Given the description of an element on the screen output the (x, y) to click on. 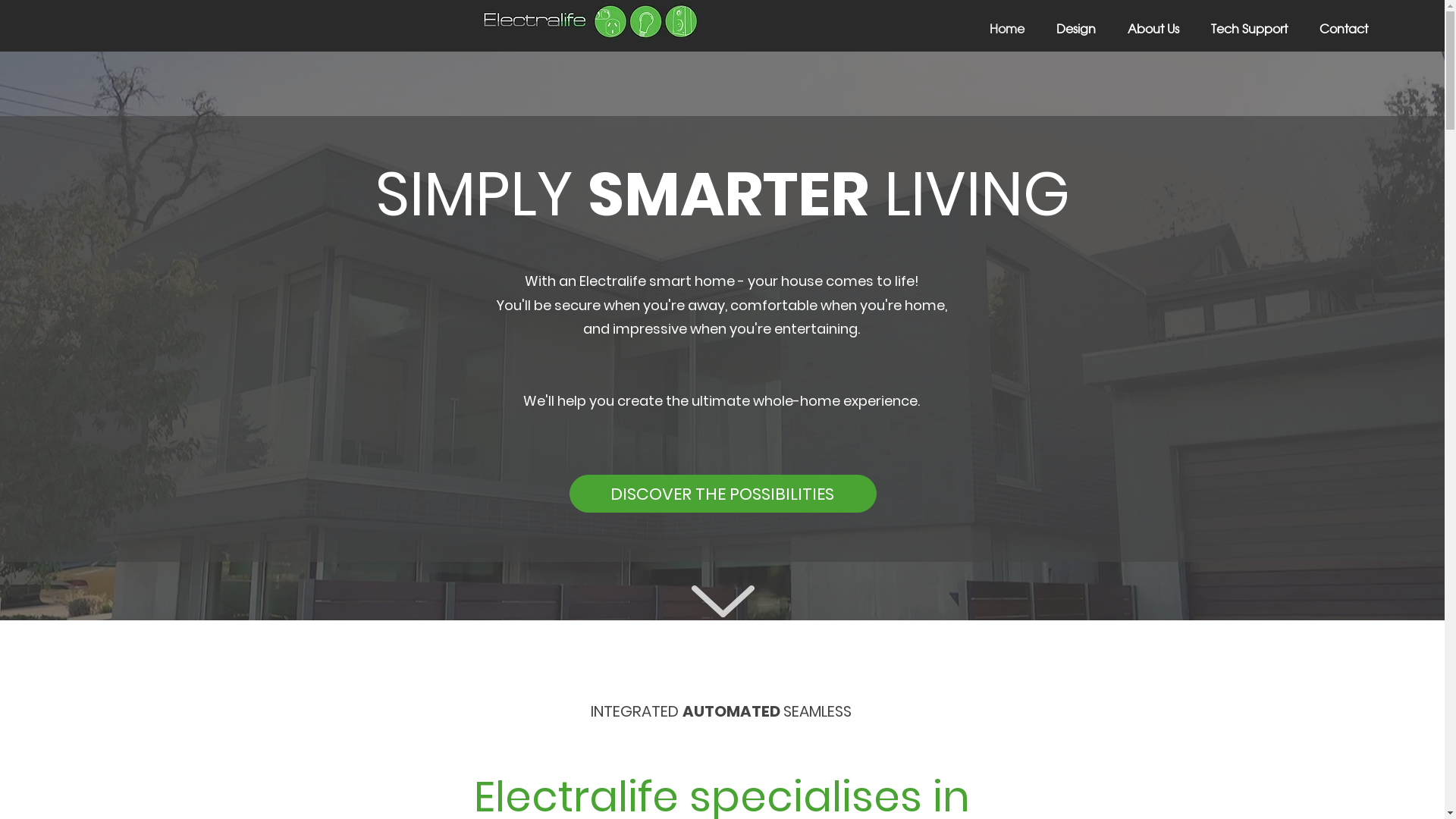
Electralife_logo_long_SML.jpg Element type: hover (589, 20)
DISCOVER THE POSSIBILITIES Element type: text (721, 493)
Home Element type: text (998, 27)
